Given the description of an element on the screen output the (x, y) to click on. 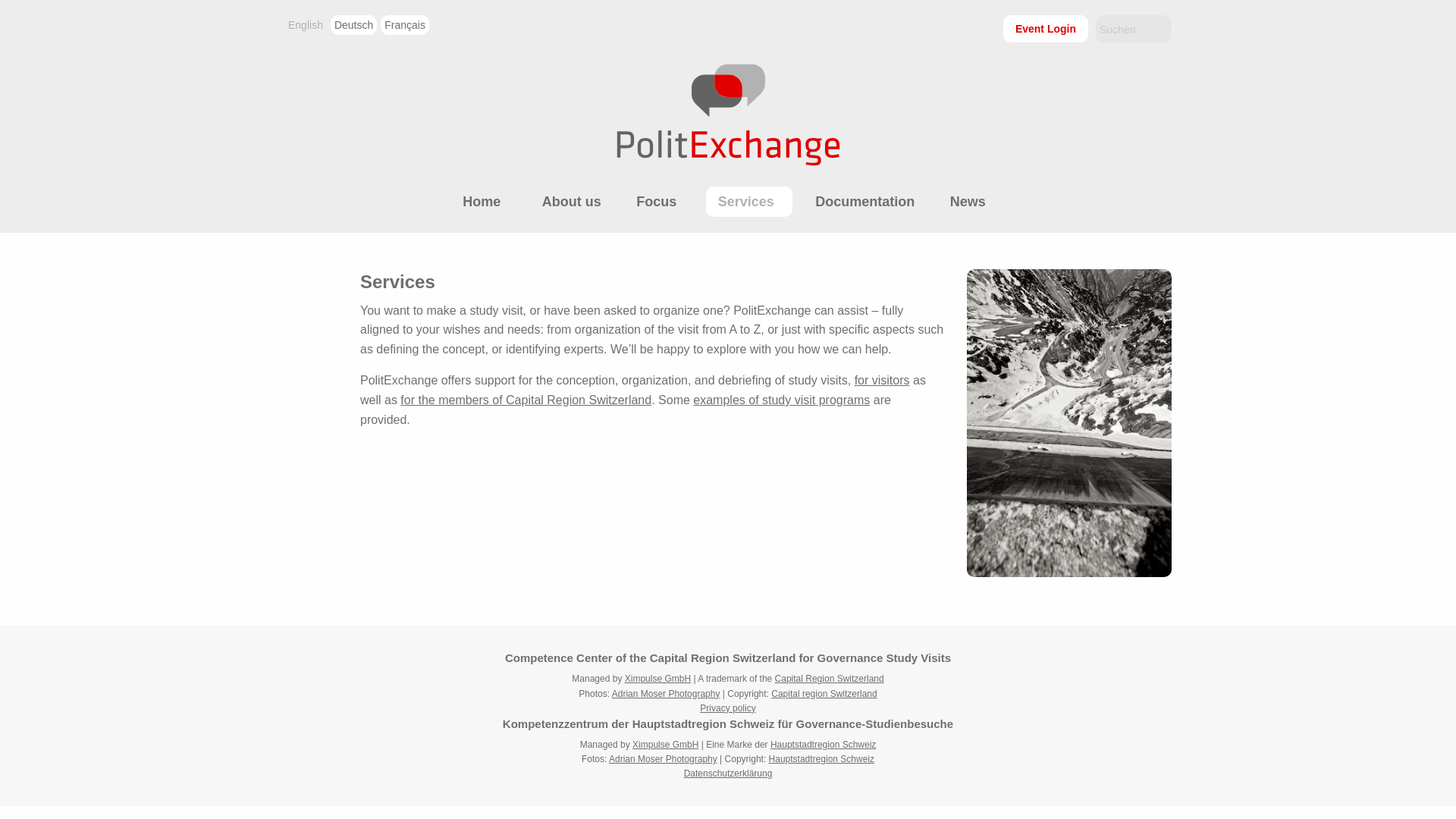
Home (483, 201)
Focus (659, 201)
English (304, 25)
About us (570, 201)
Deutsch (353, 25)
Documentation (864, 201)
Search for: (1134, 29)
Event Login (1045, 28)
for visitors (882, 379)
News (967, 201)
